Given the description of an element on the screen output the (x, y) to click on. 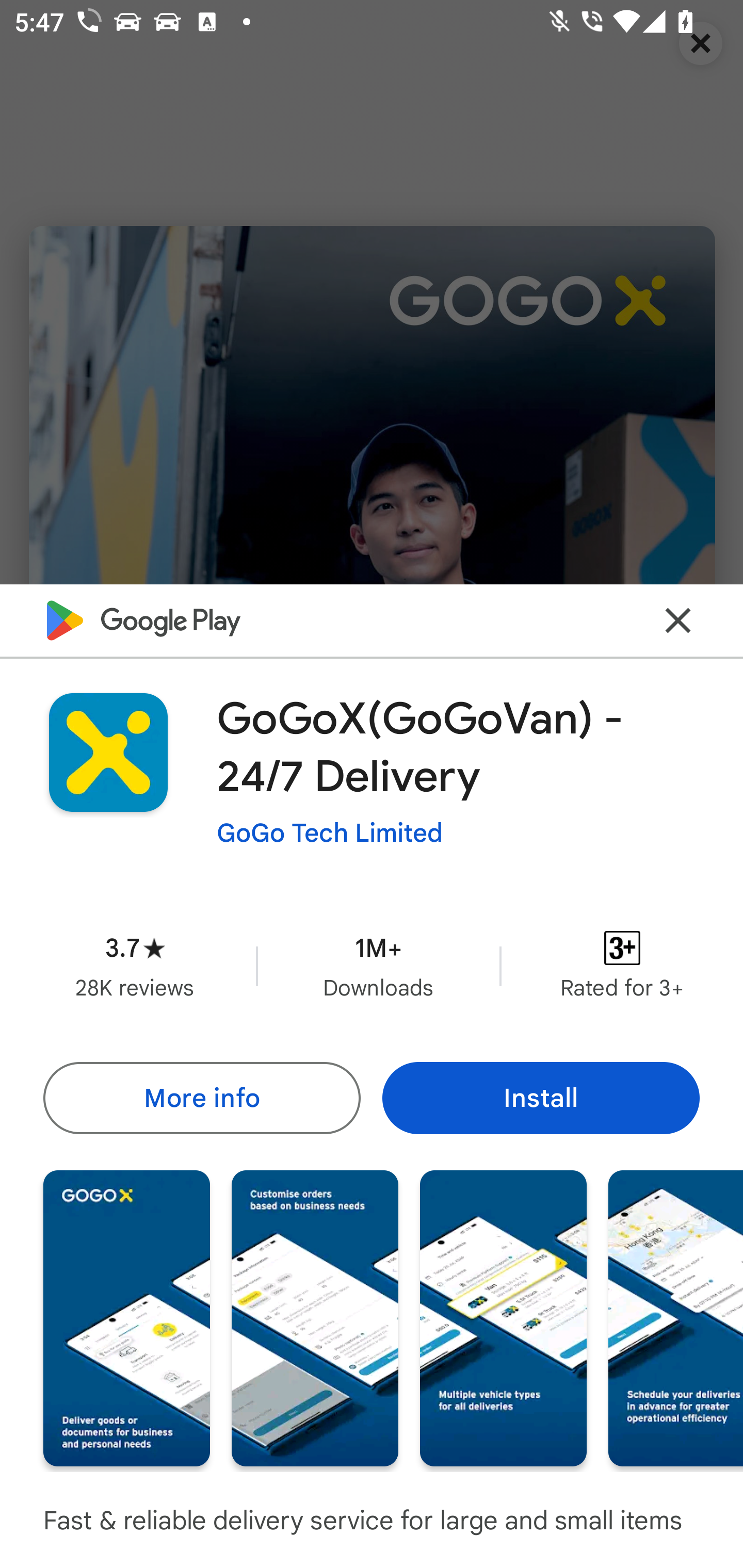
Close (677, 620)
GoGo Tech Limited (329, 832)
More info (201, 1097)
Install (540, 1097)
Screenshot "1" of "6" (126, 1317)
Screenshot "2" of "6" (314, 1317)
Screenshot "3" of "6" (502, 1317)
Screenshot "4" of "6" (675, 1317)
